Given the description of an element on the screen output the (x, y) to click on. 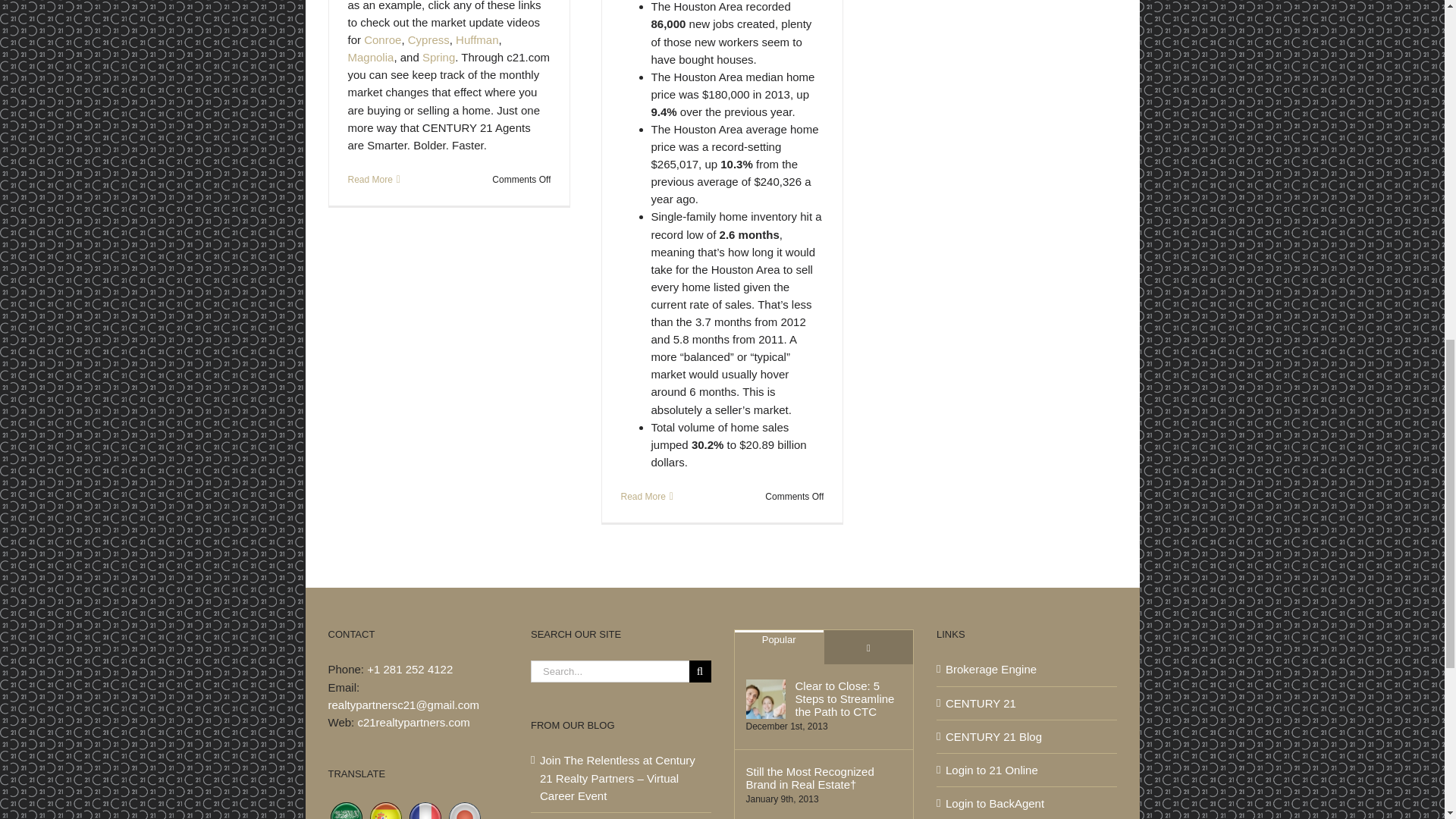
CENTURY 21 Website (1026, 702)
